Given the description of an element on the screen output the (x, y) to click on. 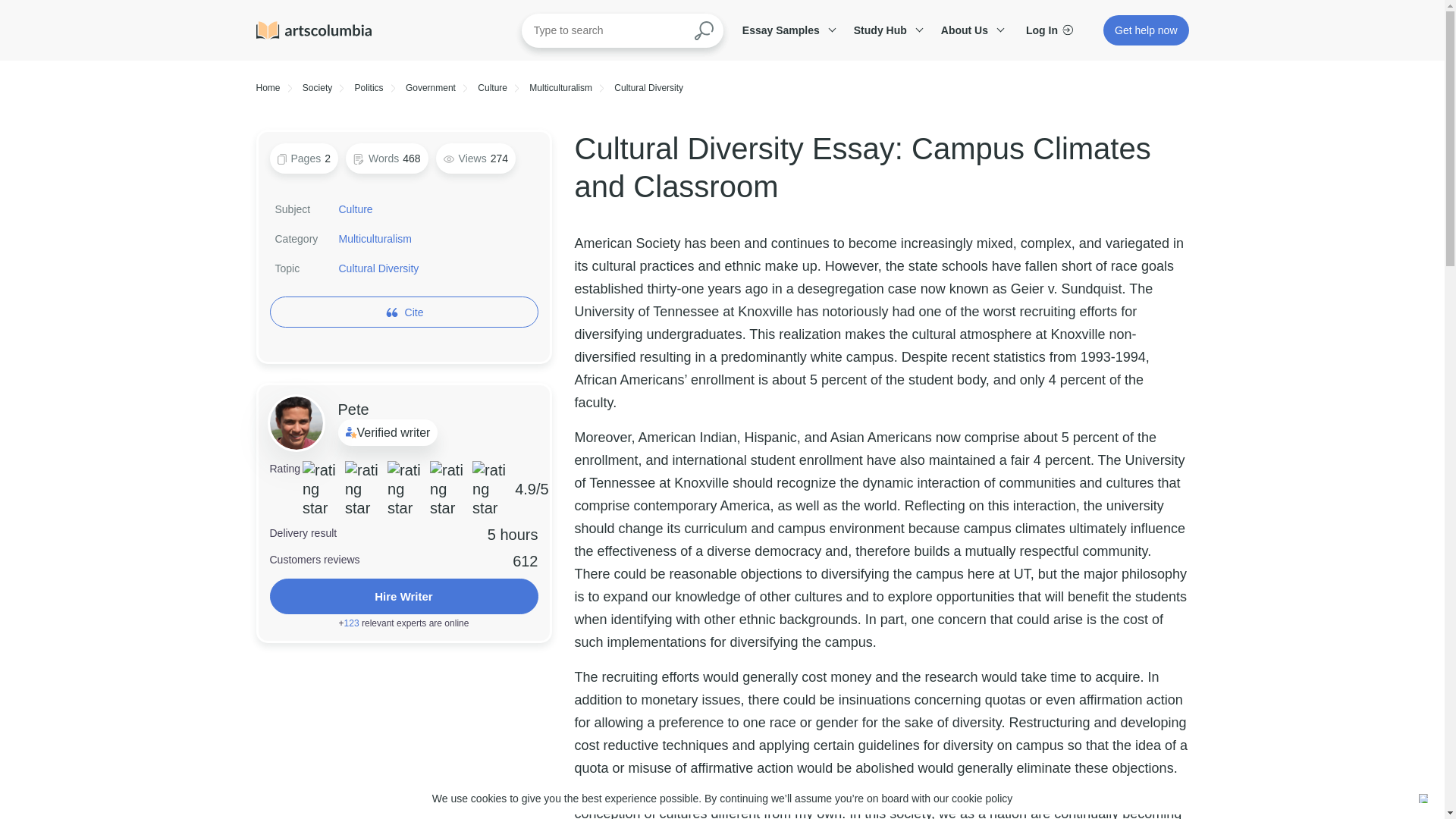
Society (316, 87)
Culture (491, 87)
Log In (1049, 30)
Government (430, 87)
Home (268, 87)
Multiculturalism (560, 87)
Cite (413, 312)
About Us (970, 30)
Essay Samples (786, 30)
Study Hub (886, 30)
